Given the description of an element on the screen output the (x, y) to click on. 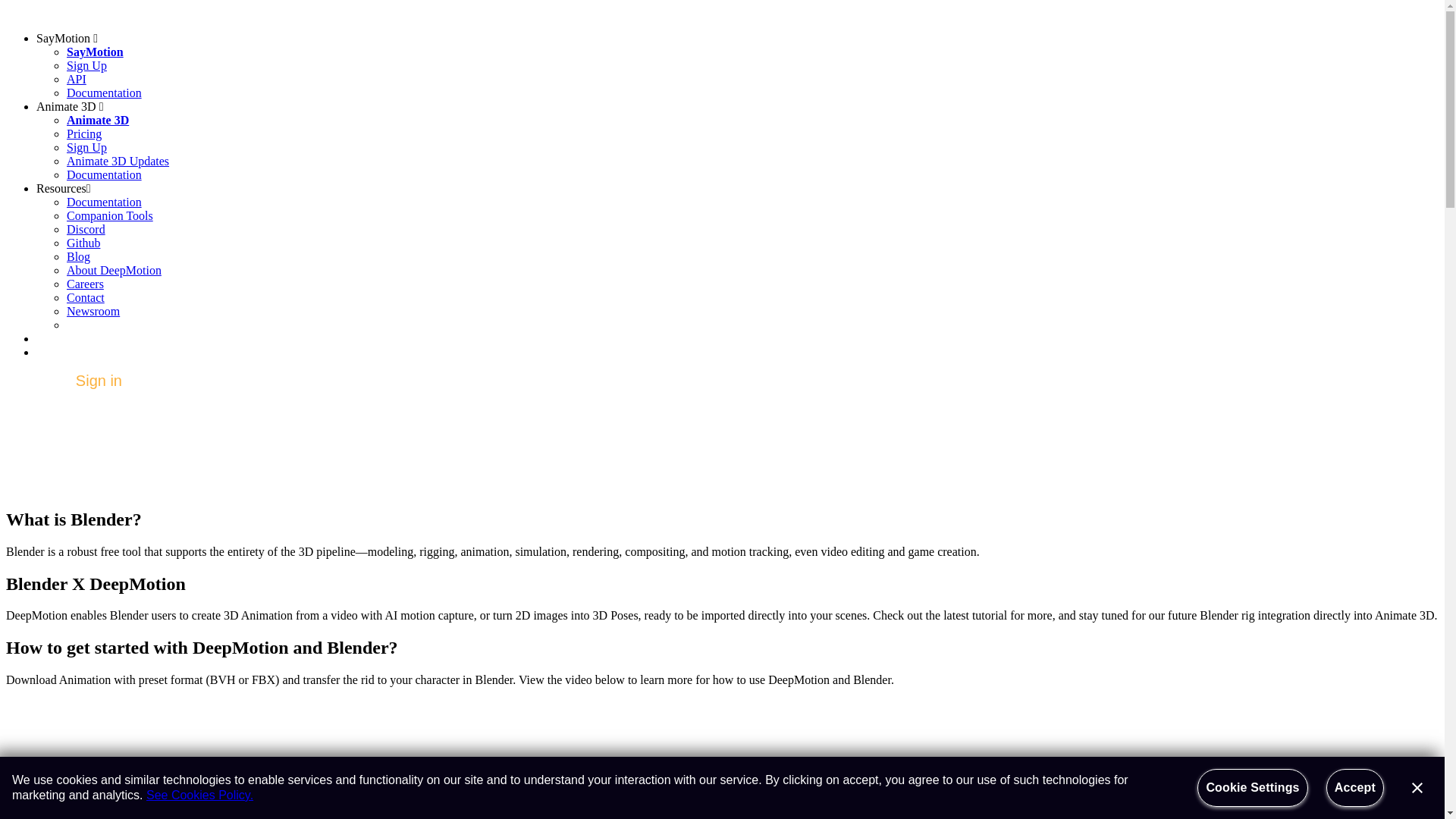
Sign Up (86, 65)
Animate 3D Updates (117, 160)
See Cookies Policy. (200, 794)
Careers (84, 283)
Newsroom (92, 310)
API (75, 78)
Documentation (103, 92)
Documentation (103, 201)
Blog (78, 256)
Sign Up (86, 146)
Contact (85, 297)
Animate 3D (97, 119)
Pricing (83, 133)
Documentation (103, 174)
Companion Tools (109, 215)
